Given the description of an element on the screen output the (x, y) to click on. 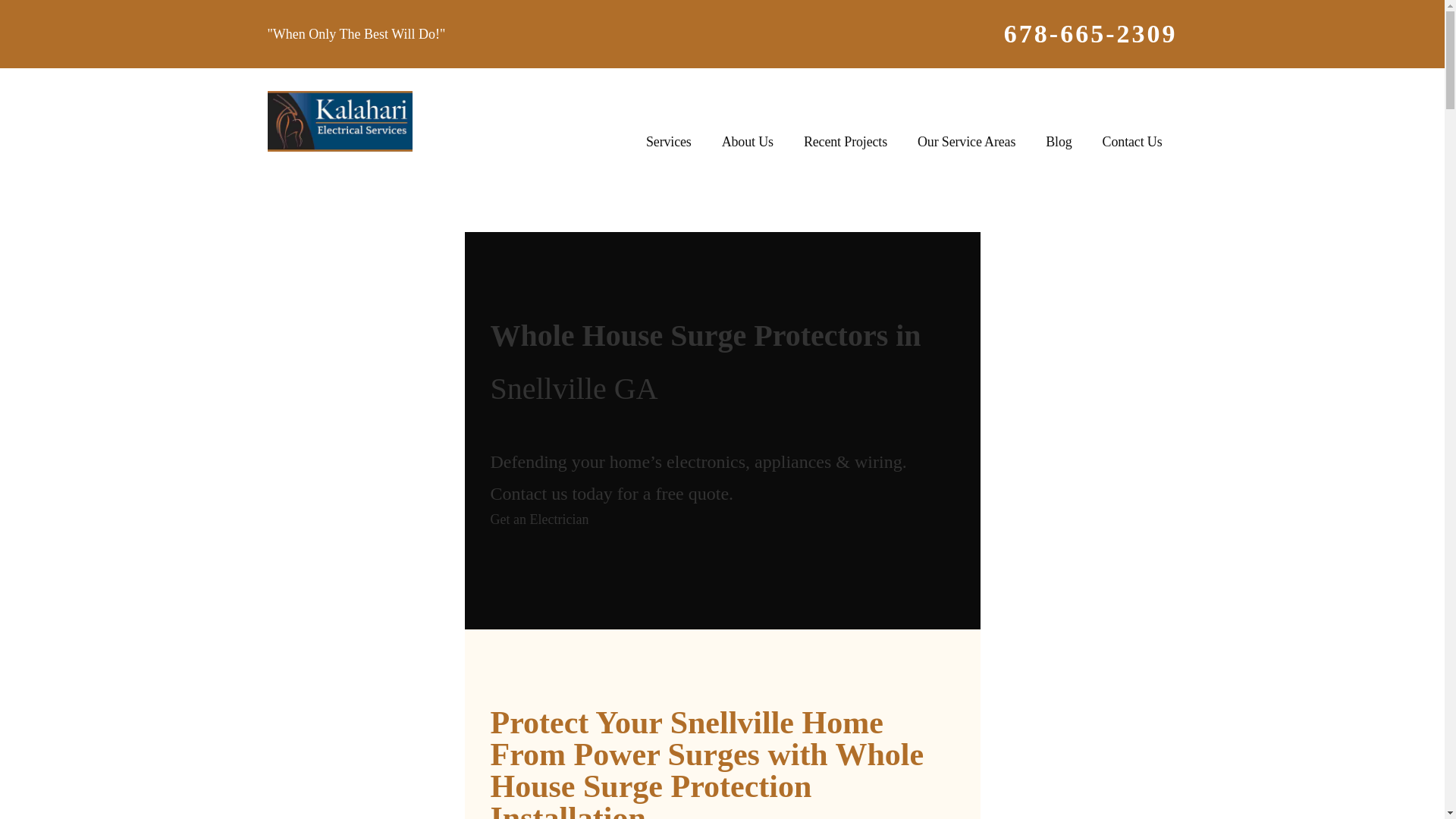
Services (668, 142)
678-665-2309 (1090, 34)
About Us (747, 142)
Our Service Areas (966, 142)
Recent Projects (845, 142)
Blog (1058, 142)
Contact Us (1132, 142)
Get an Electrician (538, 519)
